Given the description of an element on the screen output the (x, y) to click on. 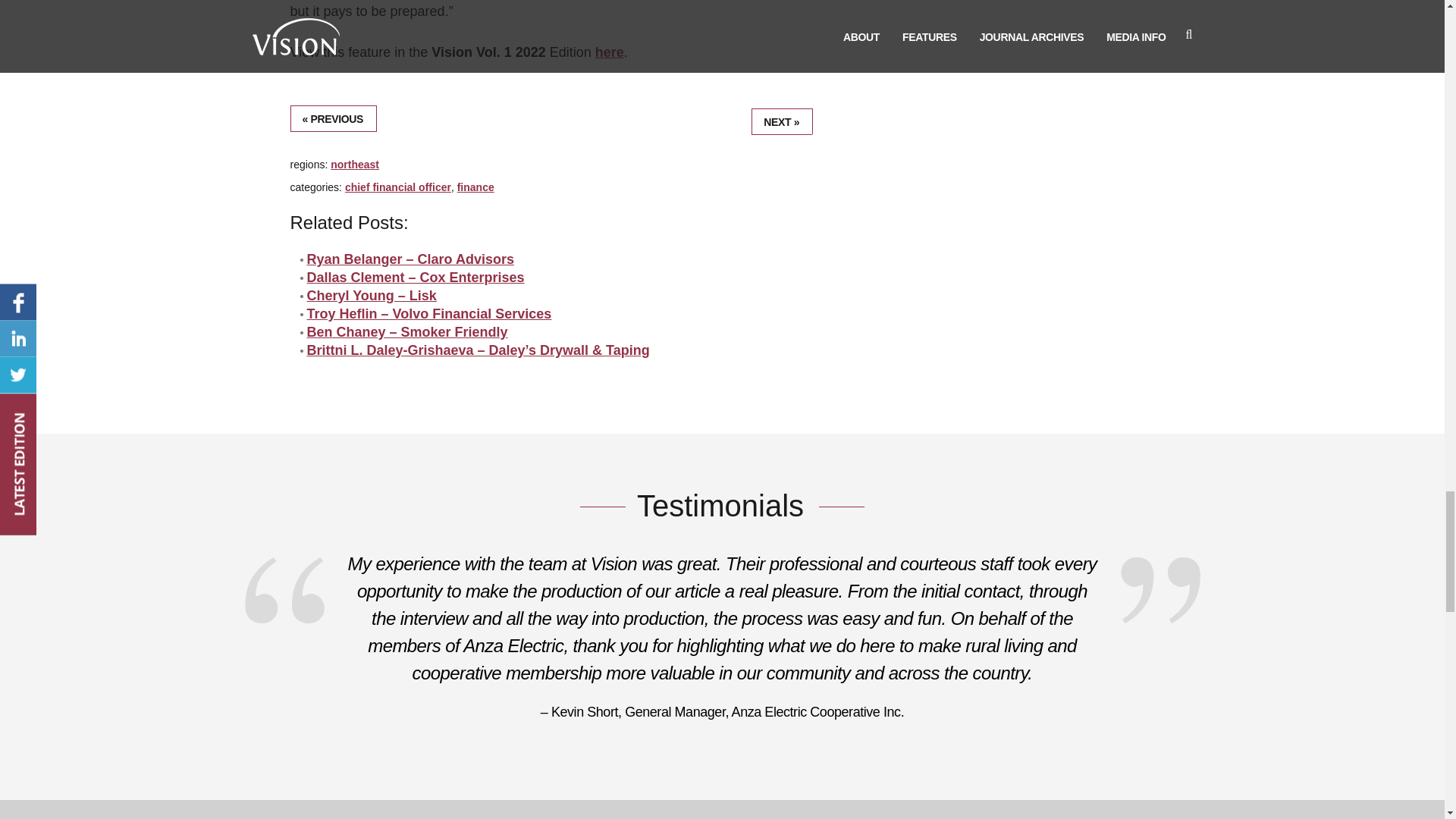
here (609, 52)
northeast (354, 164)
chief financial officer (398, 186)
finance (476, 186)
